Given the description of an element on the screen output the (x, y) to click on. 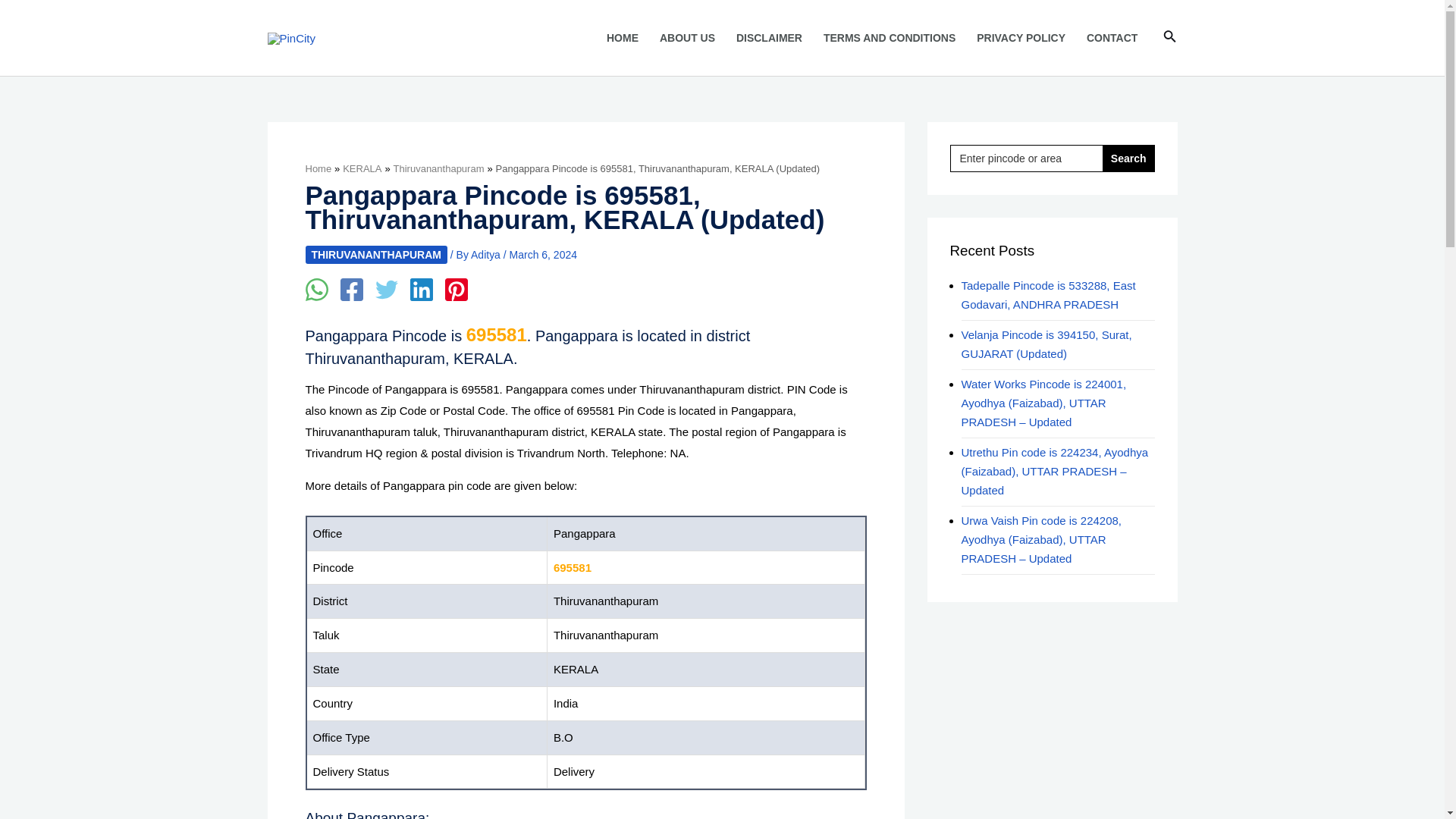
PRIVACY POLICY (1020, 38)
DISCLAIMER (768, 38)
CONTACT (1111, 38)
TERMS AND CONDITIONS (889, 38)
Search (1169, 37)
KERALA (361, 168)
Aditya (486, 254)
Search (1128, 157)
Search (1128, 157)
Thiruvananthapuram (438, 168)
THIRUVANANTHAPURAM (375, 254)
HOME (622, 38)
ABOUT US (687, 38)
View all posts by Aditya (486, 254)
Home (317, 168)
